Given the description of an element on the screen output the (x, y) to click on. 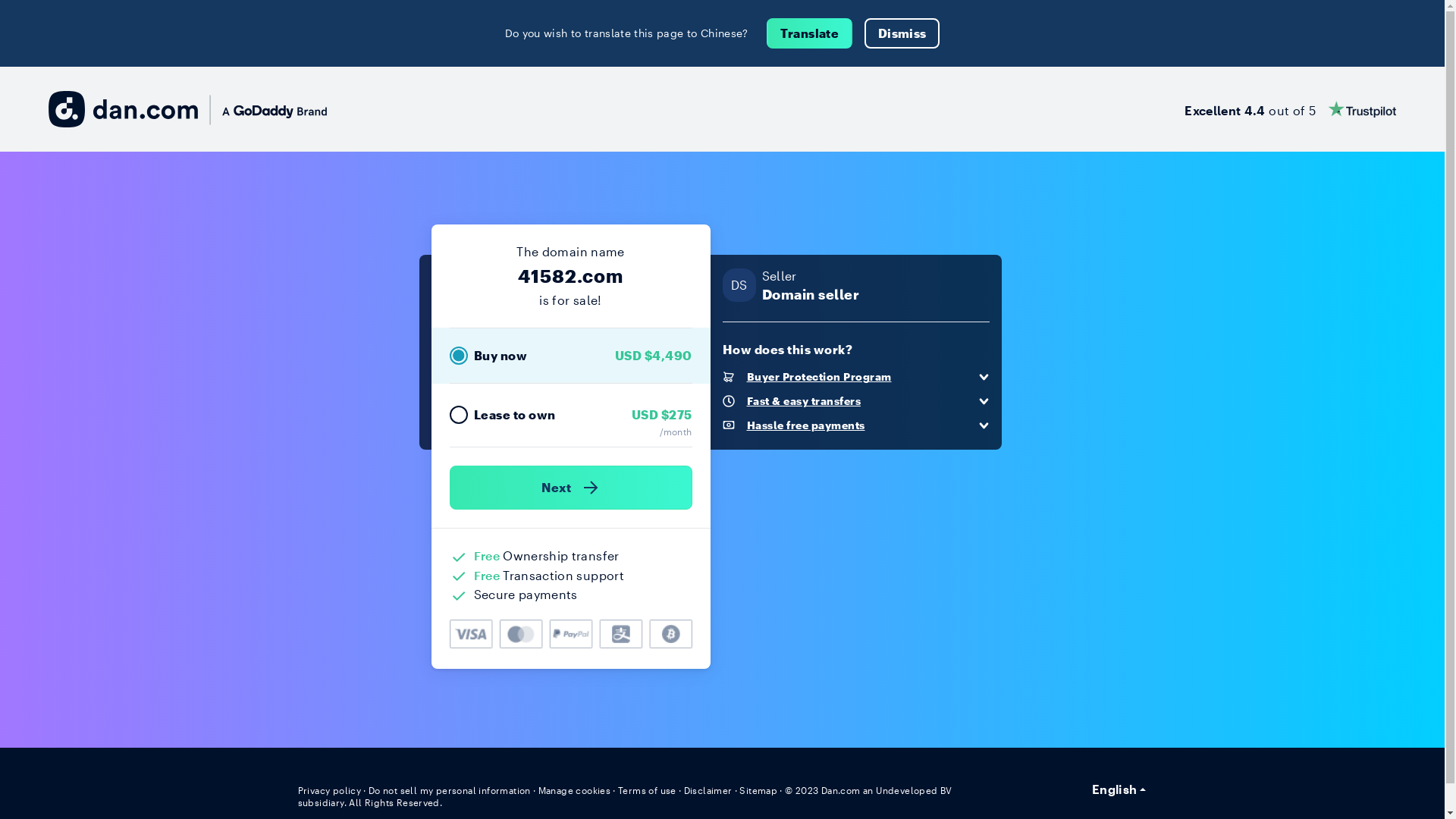
Translate Element type: text (809, 33)
Sitemap Element type: text (758, 789)
English Element type: text (1119, 789)
Privacy policy Element type: text (328, 789)
Excellent 4.4 out of 5 Element type: text (1290, 109)
Do not sell my personal information Element type: text (449, 789)
Disclaimer Element type: text (708, 789)
Terms of use Element type: text (647, 789)
Dismiss Element type: text (901, 33)
Manage cookies Element type: text (574, 790)
Next
) Element type: text (569, 487)
